Given the description of an element on the screen output the (x, y) to click on. 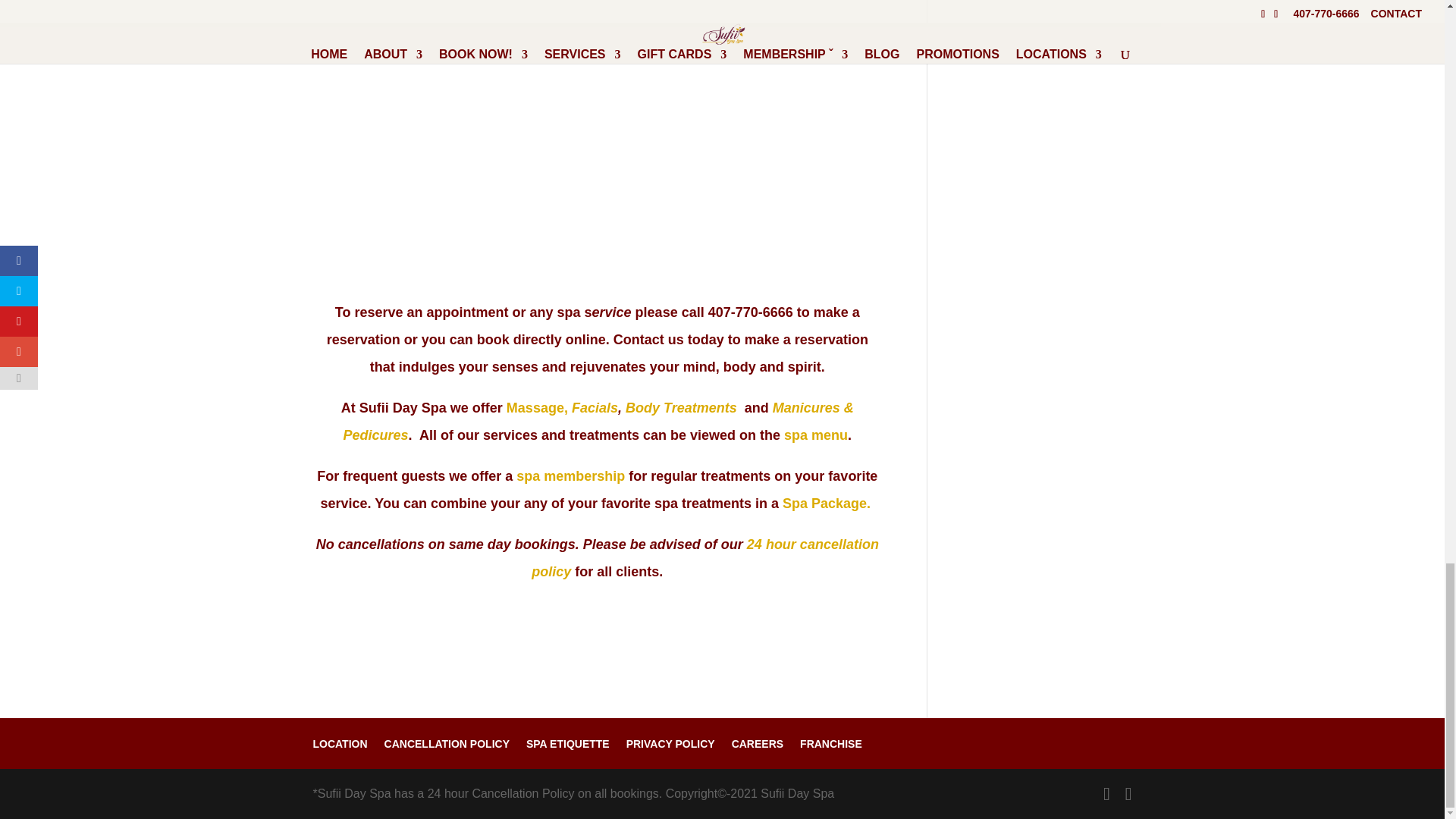
Facials (594, 407)
Body Treatments (681, 407)
spa membership (570, 476)
spa menu (815, 435)
Massage, (536, 407)
